Given the description of an element on the screen output the (x, y) to click on. 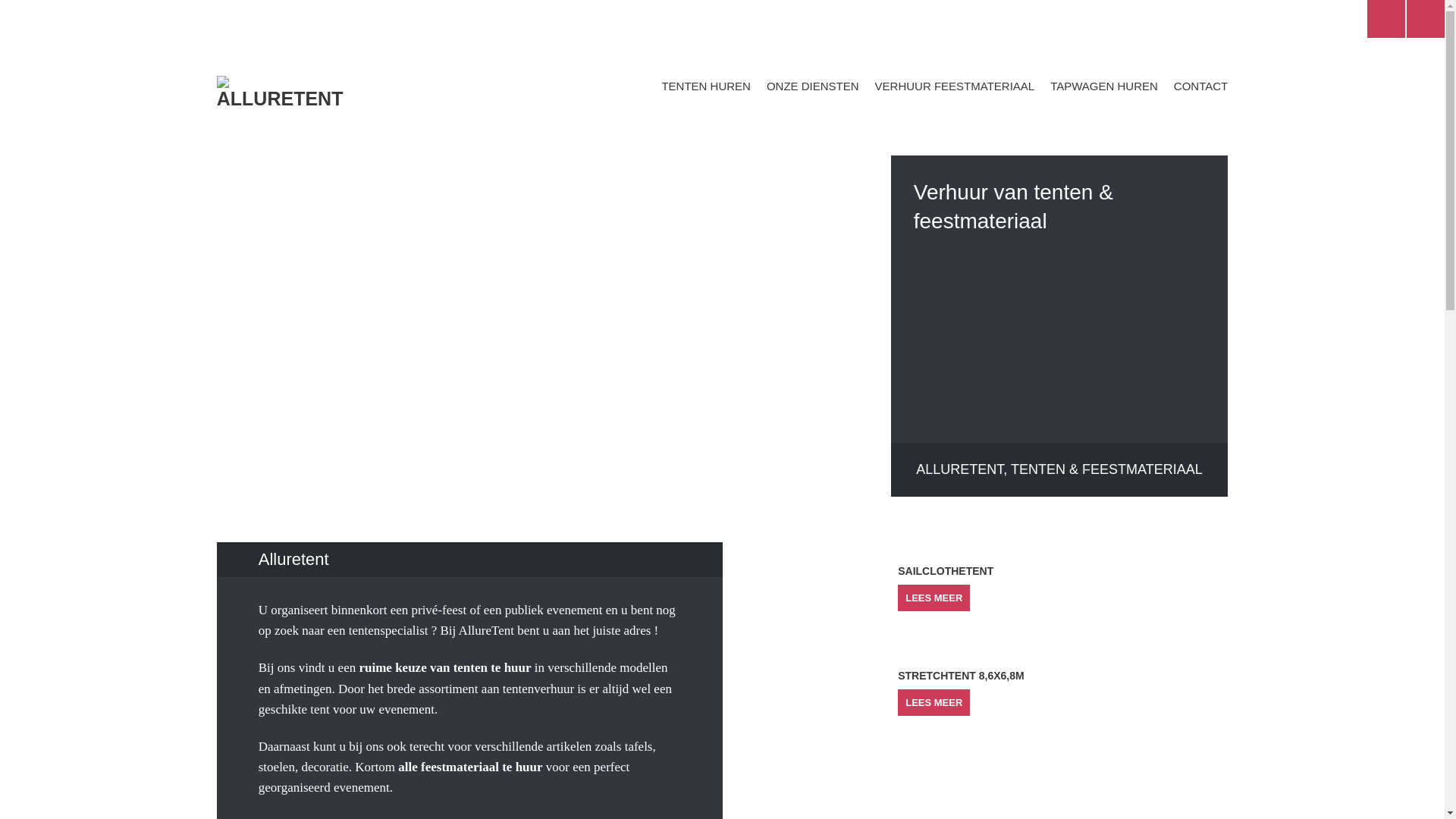
TAPWAGEN HUREN Element type: text (1103, 85)
VERHUUR FEESTMATERIAAL Element type: text (955, 85)
TENTEN HUREN Element type: text (705, 85)
CONTACT Element type: text (1200, 85)
LEES MEER Element type: text (933, 701)
LEES MEER Element type: text (933, 596)
ONZE DIENSTEN Element type: text (812, 85)
Alluretent Facebook Element type: hover (1386, 18)
ALLURETENT, TENTEN & FEESTMATERIAAL Element type: text (1059, 469)
Alluretent Element type: hover (342, 92)
Alluretent Instagram Element type: hover (1425, 18)
